Given the description of an element on the screen output the (x, y) to click on. 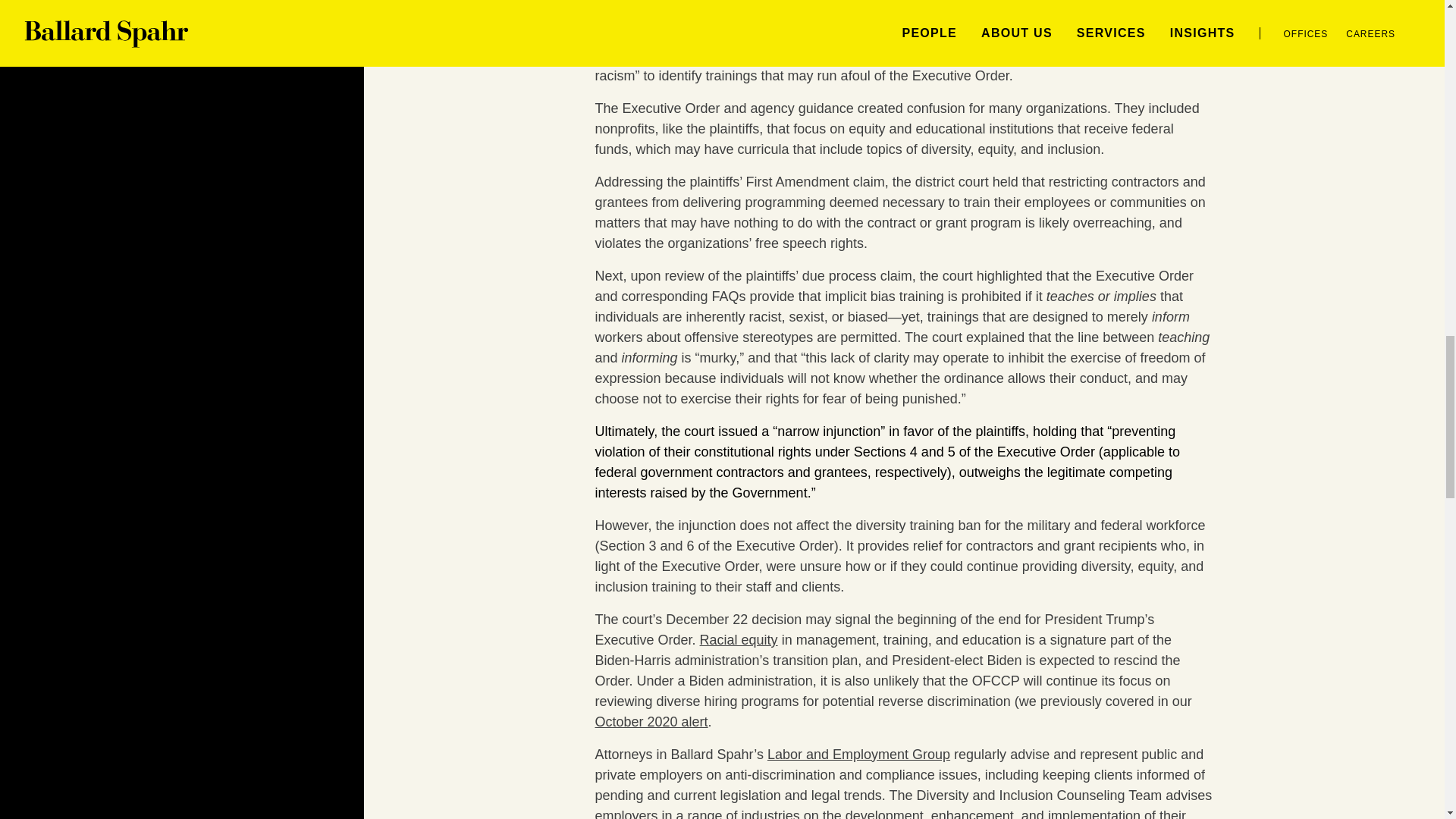
October 2020 alert (650, 721)
Labor and Employment Group (858, 754)
Racial equity (738, 639)
a memorandum (842, 34)
